Given the description of an element on the screen output the (x, y) to click on. 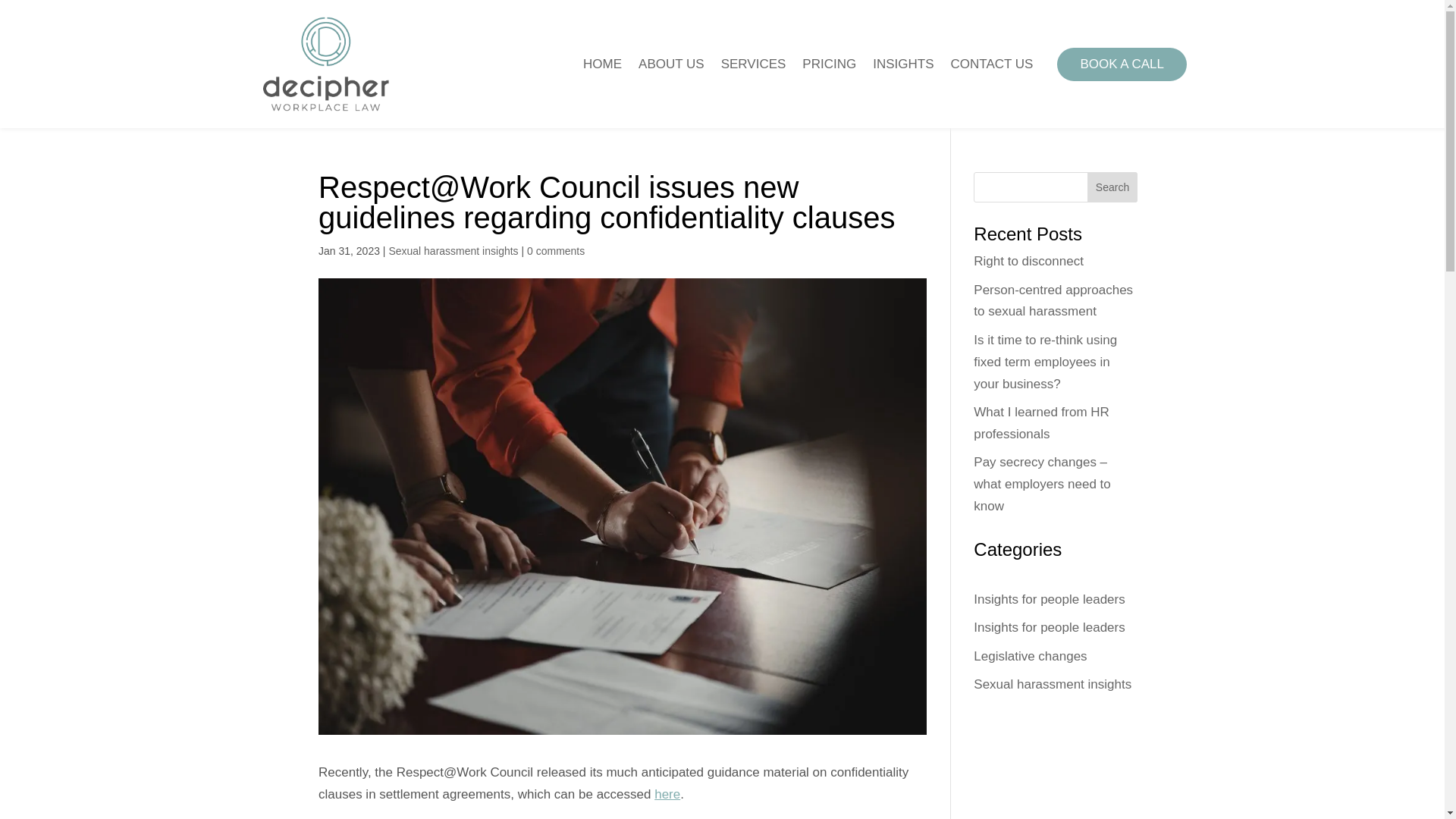
Insights for people leaders (1049, 626)
Search (1112, 186)
Legislative changes (1030, 656)
Insights for people leaders (1049, 599)
0 comments (556, 250)
What I learned from HR professionals (1041, 422)
Search (1112, 186)
Sexual harassment insights (1052, 684)
CONTACT US (991, 64)
here (666, 794)
Person-centred approaches to sexual harassment (1053, 300)
PRICING (829, 64)
Right to disconnect (1028, 260)
BOOK A CALL (1121, 64)
